Given the description of an element on the screen output the (x, y) to click on. 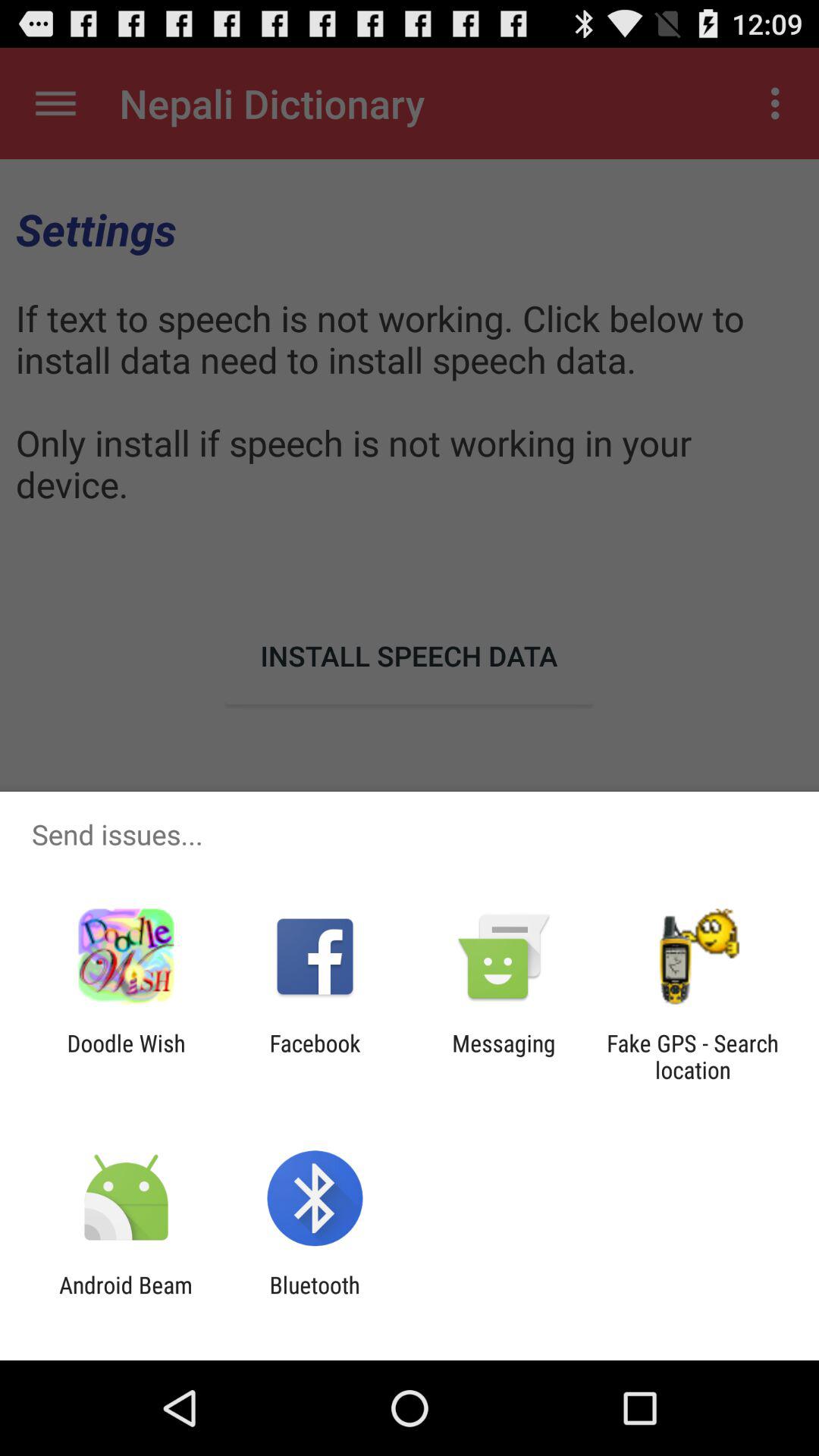
select app to the right of the doodle wish icon (314, 1056)
